Given the description of an element on the screen output the (x, y) to click on. 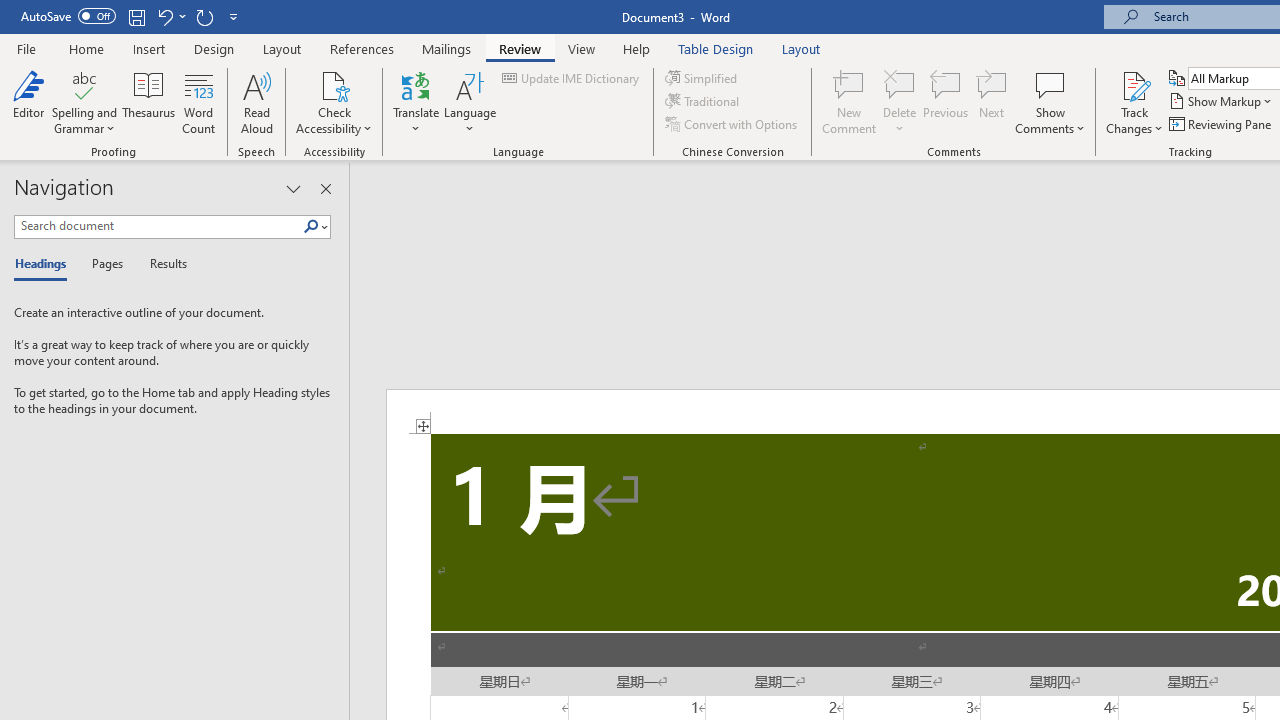
Traditional (703, 101)
Word Count (198, 102)
Show Markup (1222, 101)
Undo Increase Indent (170, 15)
Update IME Dictionary... (572, 78)
Check Accessibility (334, 84)
